Given the description of an element on the screen output the (x, y) to click on. 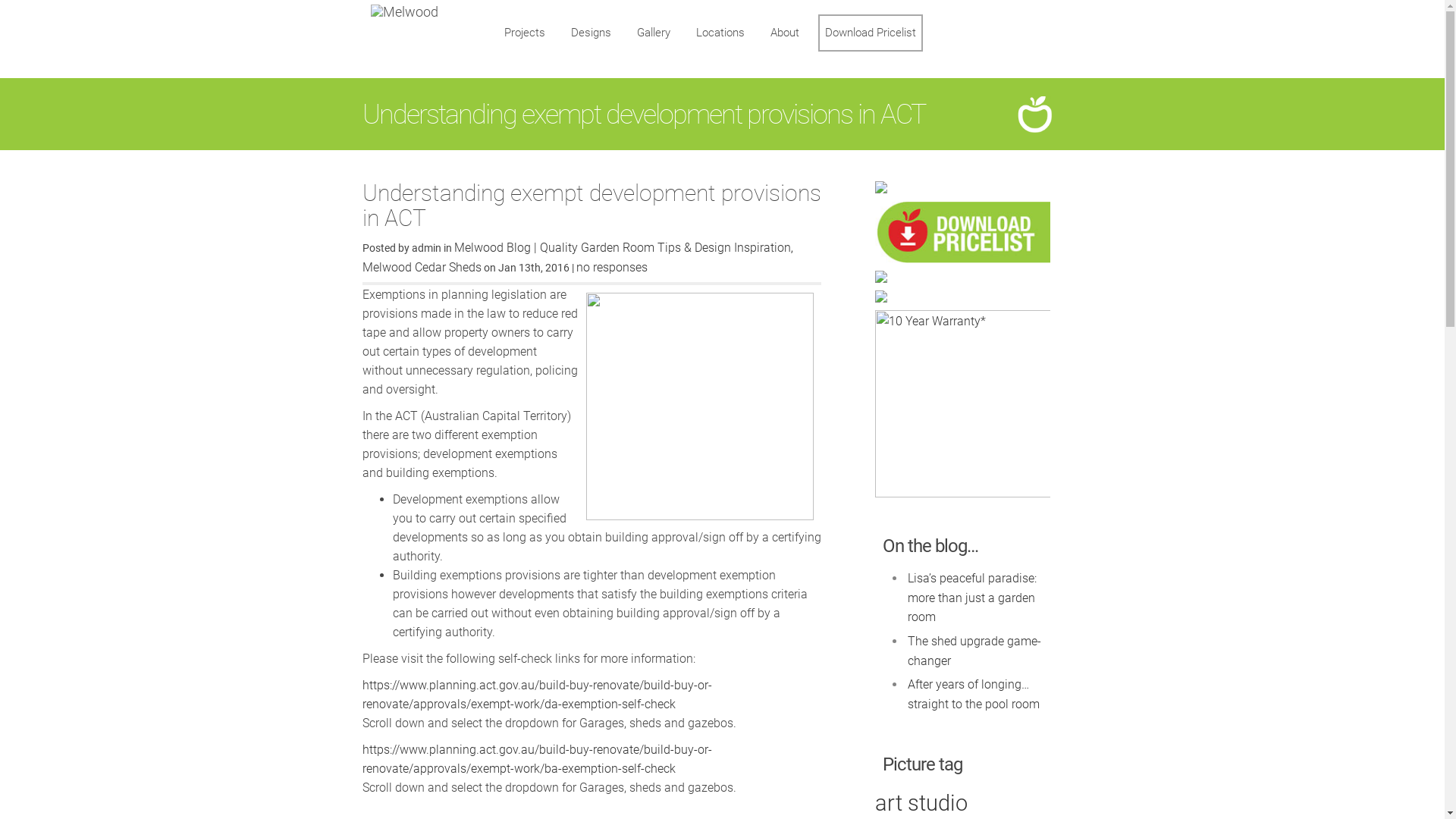
Gallery Element type: text (652, 32)
Designs Element type: text (590, 32)
art studio Element type: text (921, 802)
Download Pricelist Element type: text (869, 32)
Melwood Blog | Quality Garden Room Tips & Design Inspiration Element type: text (621, 247)
Projects Element type: text (524, 32)
Melwood Cedar Sheds Element type: text (421, 267)
Locations Element type: text (719, 32)
About Element type: text (783, 32)
no responses Element type: text (611, 267)
The shed upgrade game-changer Element type: text (977, 650)
10 Year Warranty* Element type: hover (962, 403)
